Given the description of an element on the screen output the (x, y) to click on. 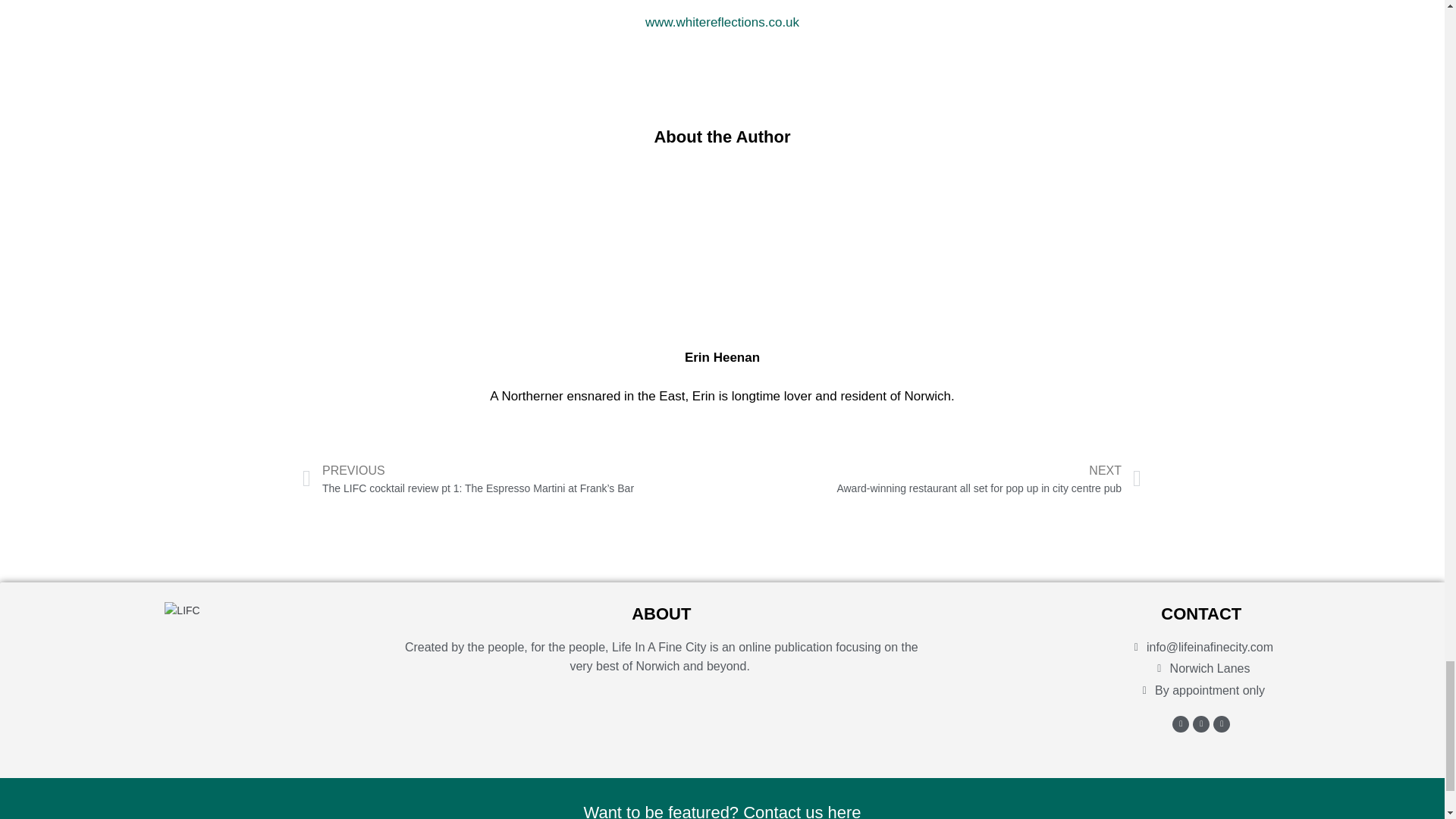
LIFC (181, 610)
www.whitereflections.co.uk (722, 22)
